Given the description of an element on the screen output the (x, y) to click on. 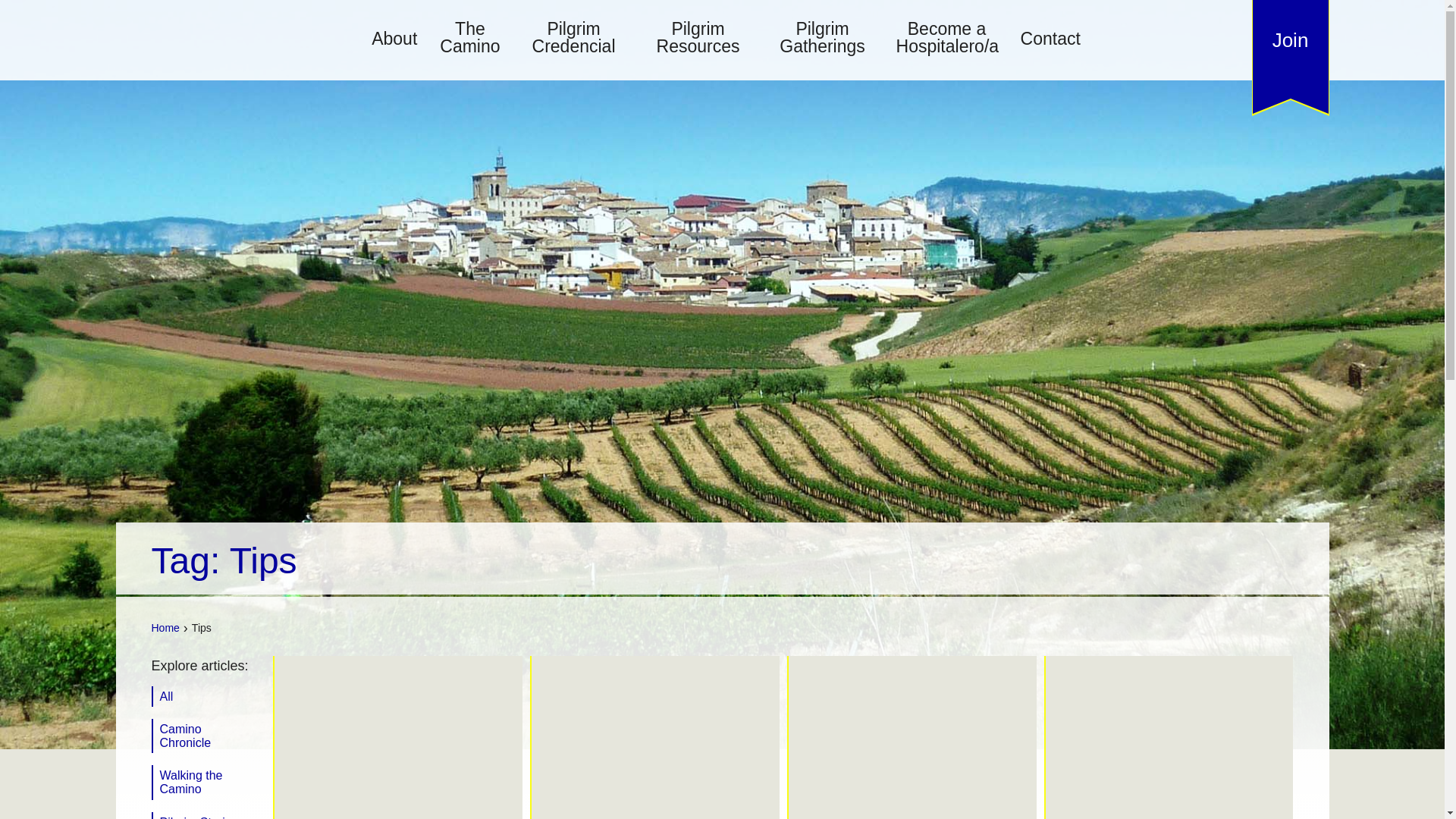
Contact (1050, 38)
Pilgrim Resources (698, 38)
Join (1289, 40)
Pilgrim Stories (205, 815)
All (205, 696)
Camino Chronicle (205, 735)
Walking the Camino (205, 781)
Home (165, 627)
Pilgrim Credencial (574, 38)
